Given the description of an element on the screen output the (x, y) to click on. 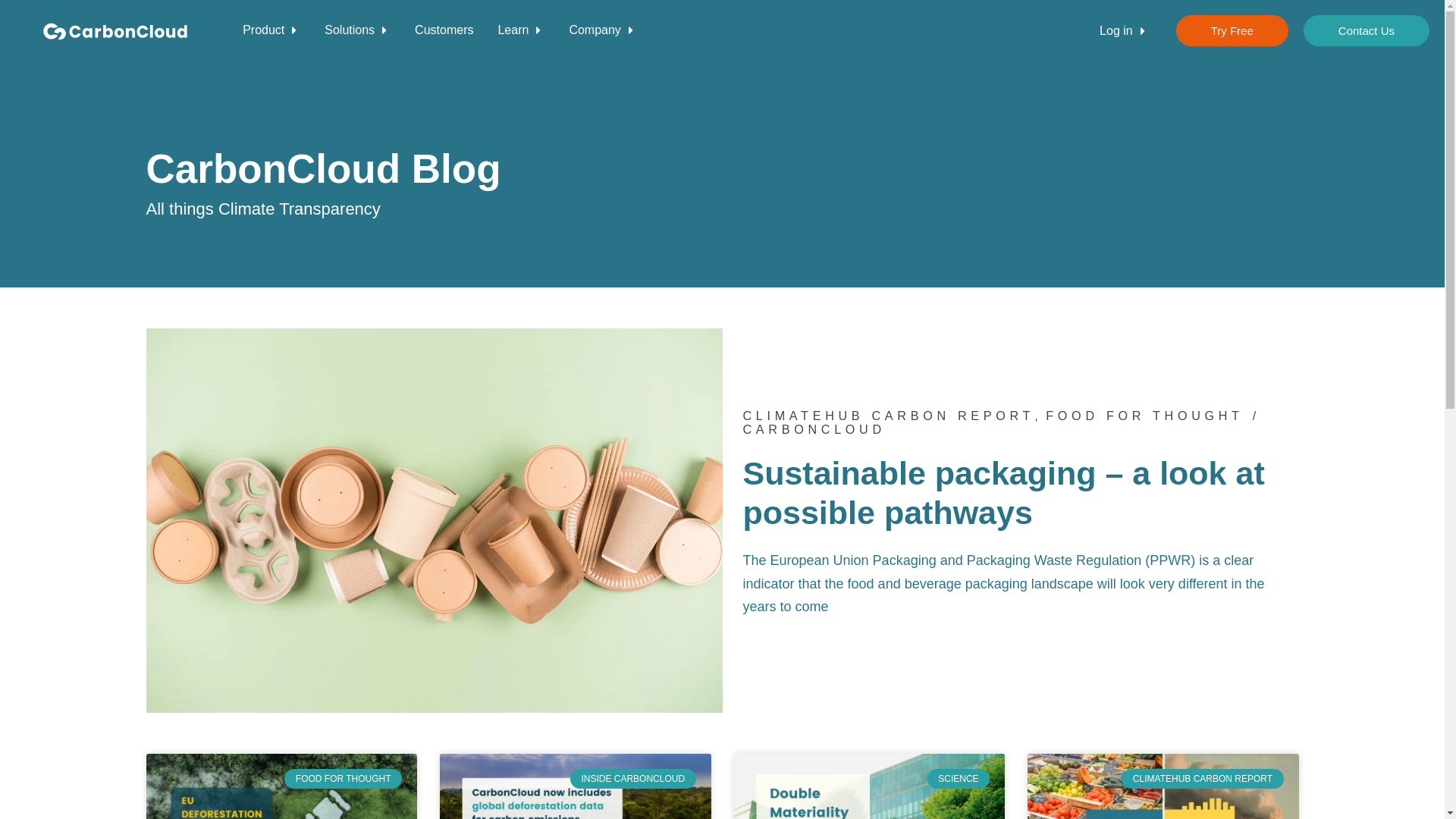
Customers (443, 30)
logo-light-md (114, 31)
